Given the description of an element on the screen output the (x, y) to click on. 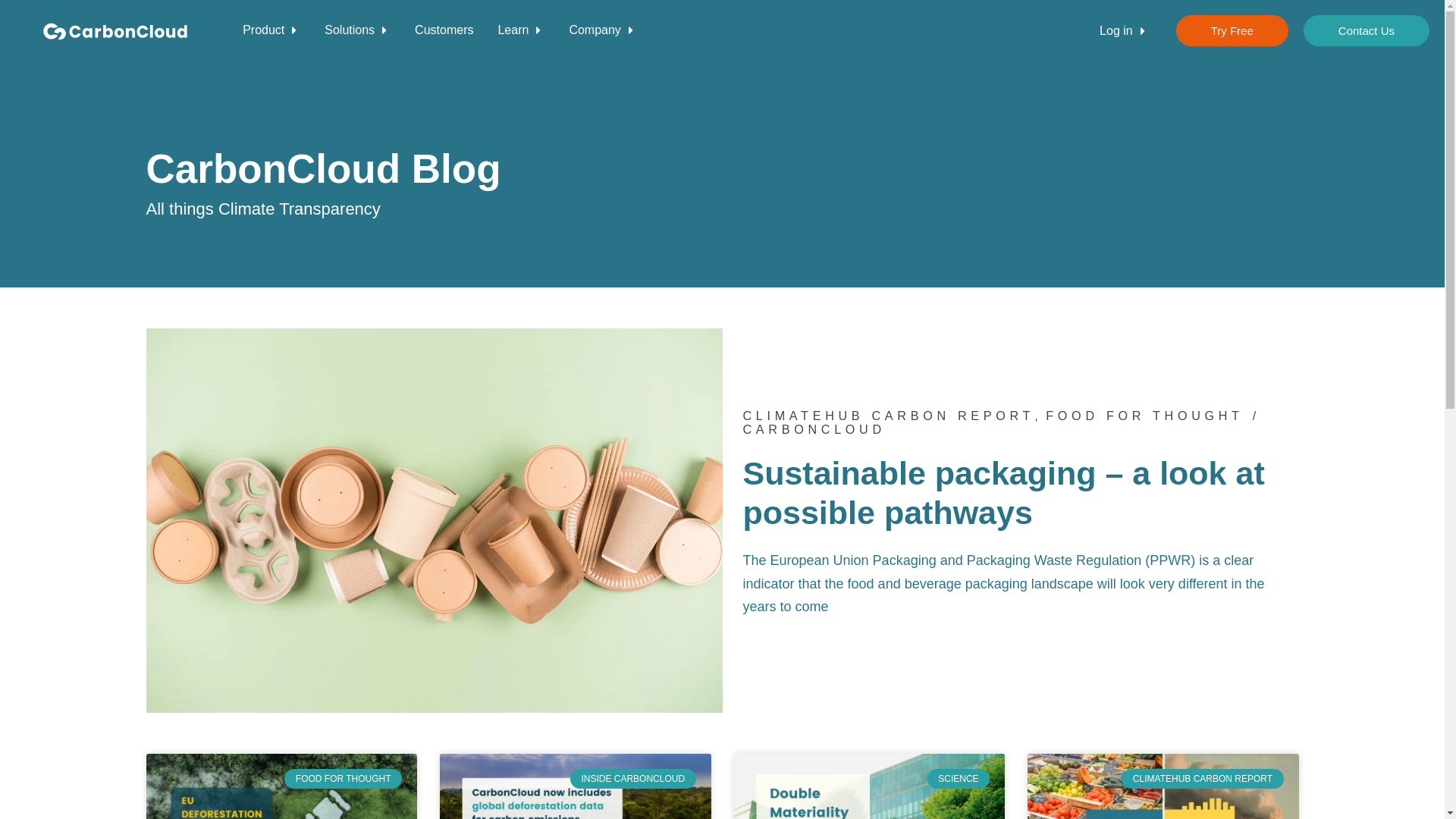
Customers (443, 30)
logo-light-md (114, 31)
